Given the description of an element on the screen output the (x, y) to click on. 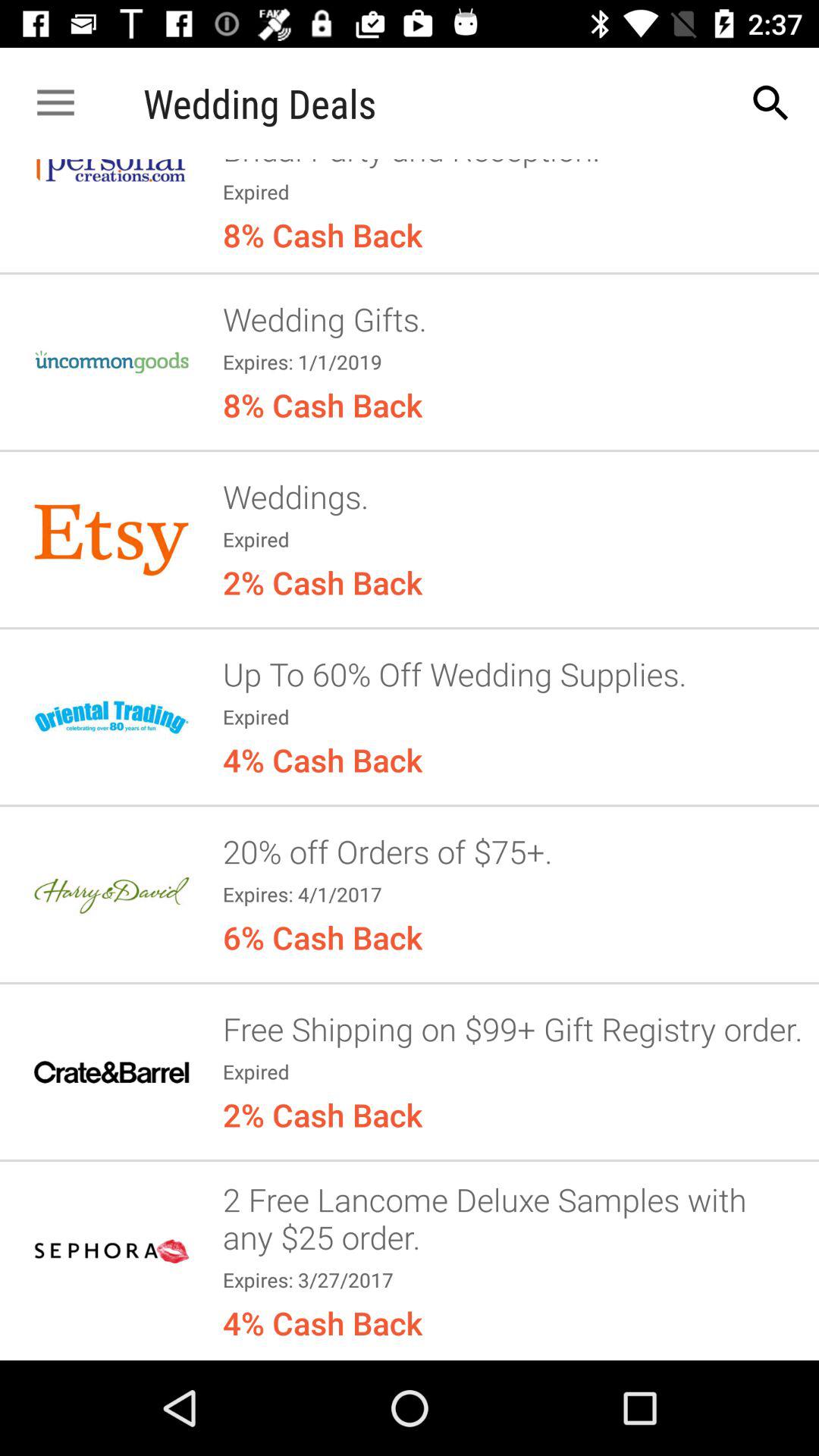
turn off the icon above the custom wedding gifts item (771, 103)
